Given the description of an element on the screen output the (x, y) to click on. 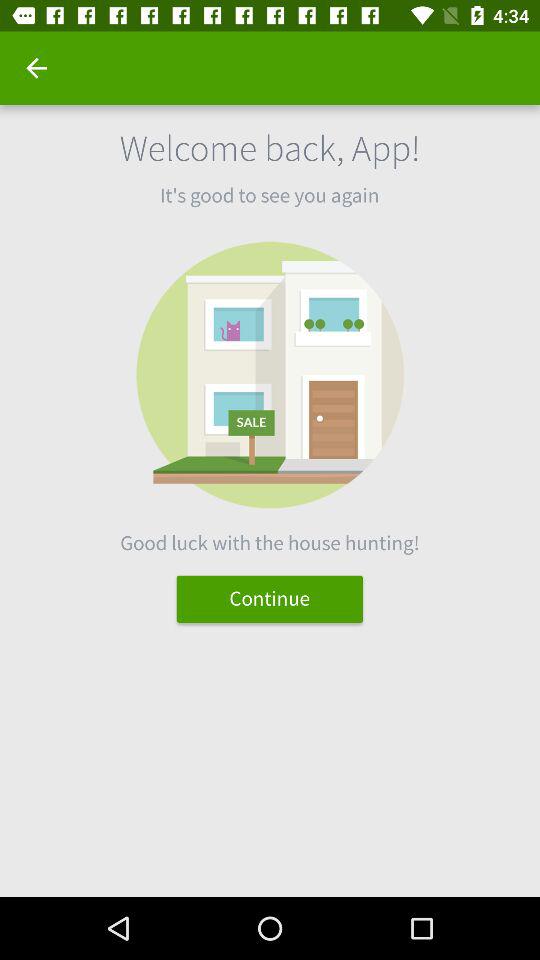
scroll to continue icon (269, 598)
